Given the description of an element on the screen output the (x, y) to click on. 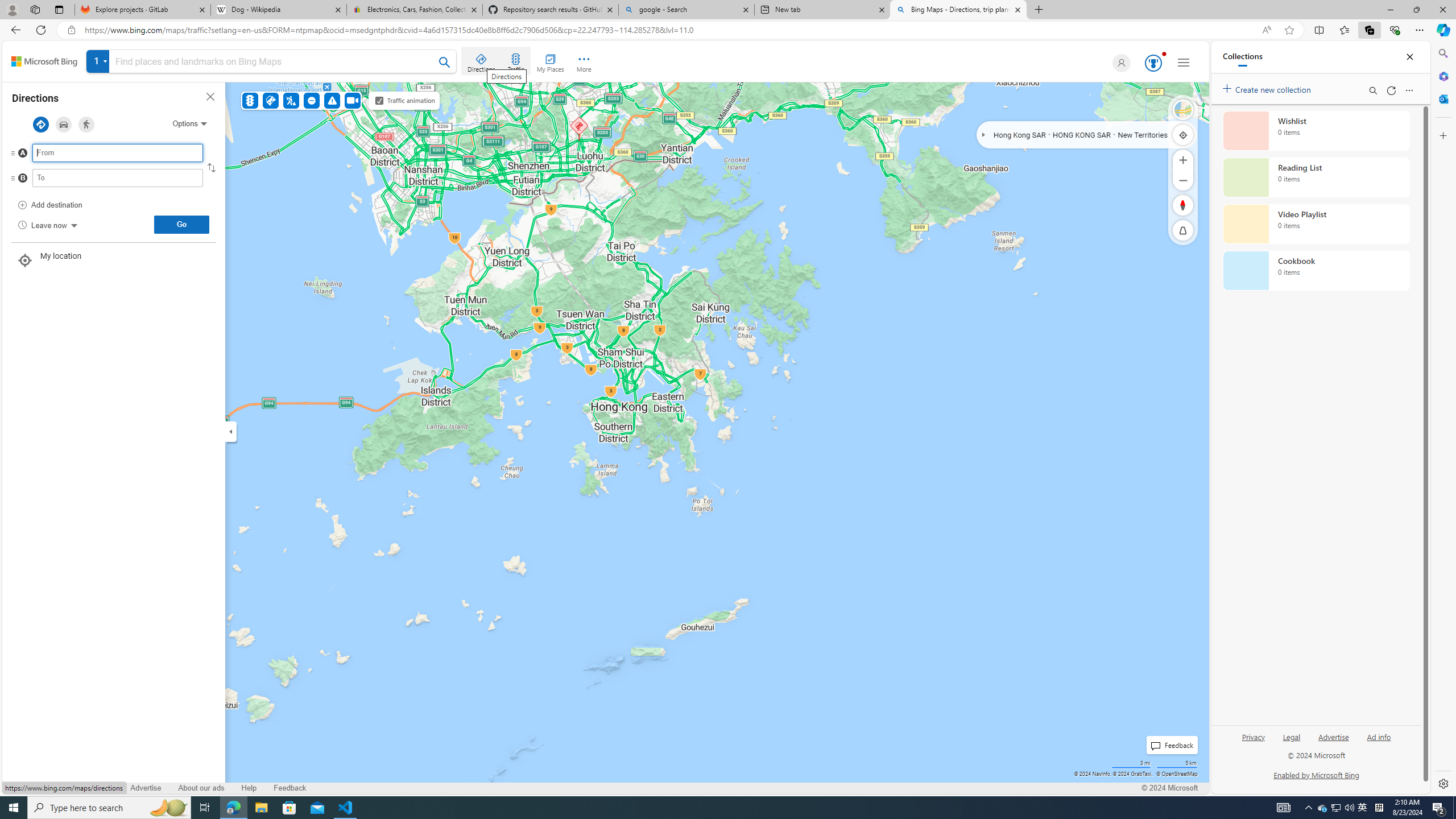
Default Profile Picture (1119, 62)
Options (188, 123)
Leave now (47, 224)
Animation (1163, 53)
Cookbook collection, 0 items (1316, 270)
Back to Bing search (44, 60)
AutomationID: rh_meter (1152, 62)
Directions (481, 60)
Traffic animation (378, 100)
Driving (63, 124)
Recommended (41, 124)
